Given the description of an element on the screen output the (x, y) to click on. 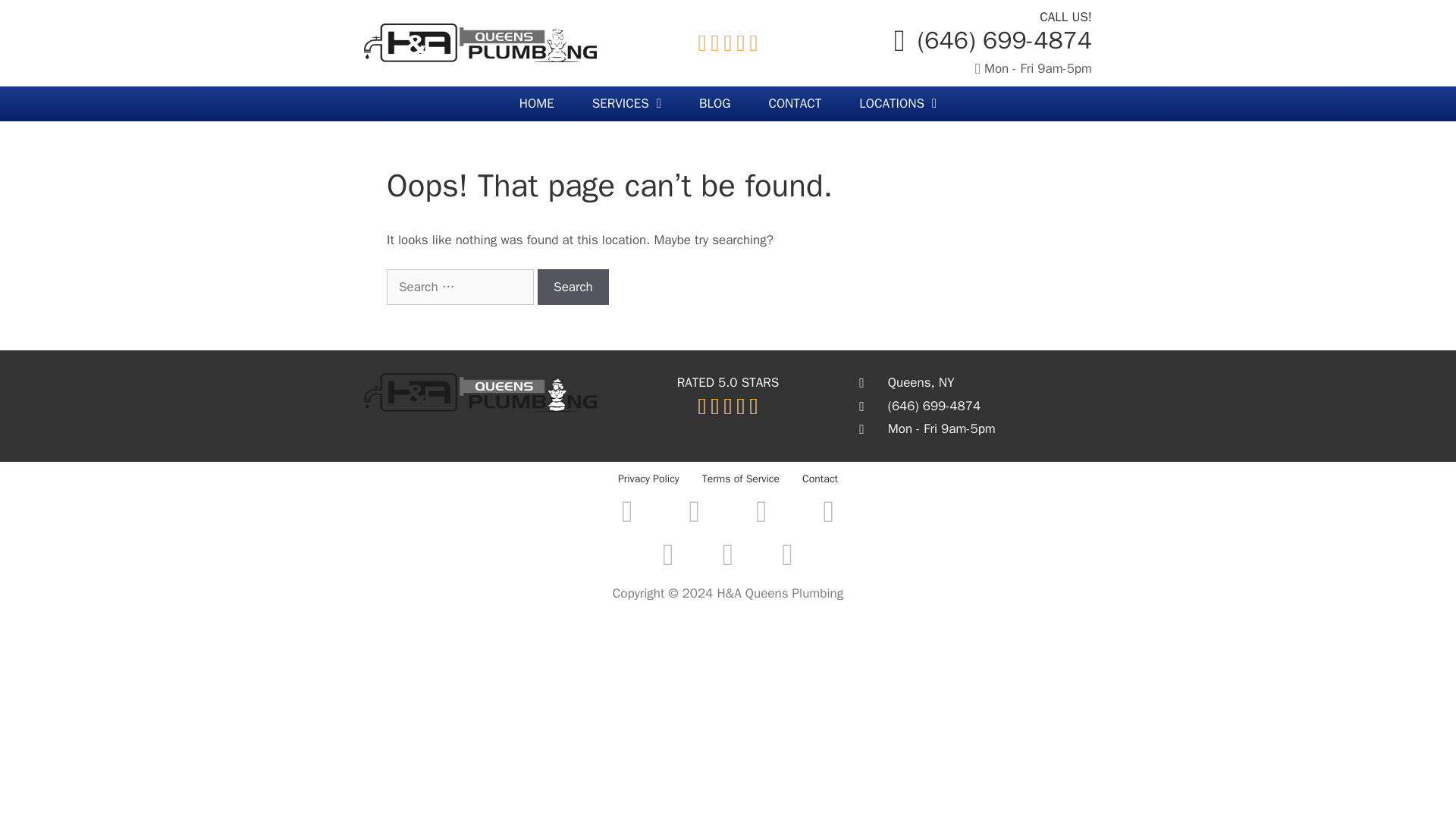
BLOG (714, 103)
Search (572, 287)
Search for: (460, 287)
Search (572, 287)
LOCATIONS (897, 103)
CONTACT (794, 103)
HOME (536, 103)
SERVICES (626, 103)
